Given the description of an element on the screen output the (x, y) to click on. 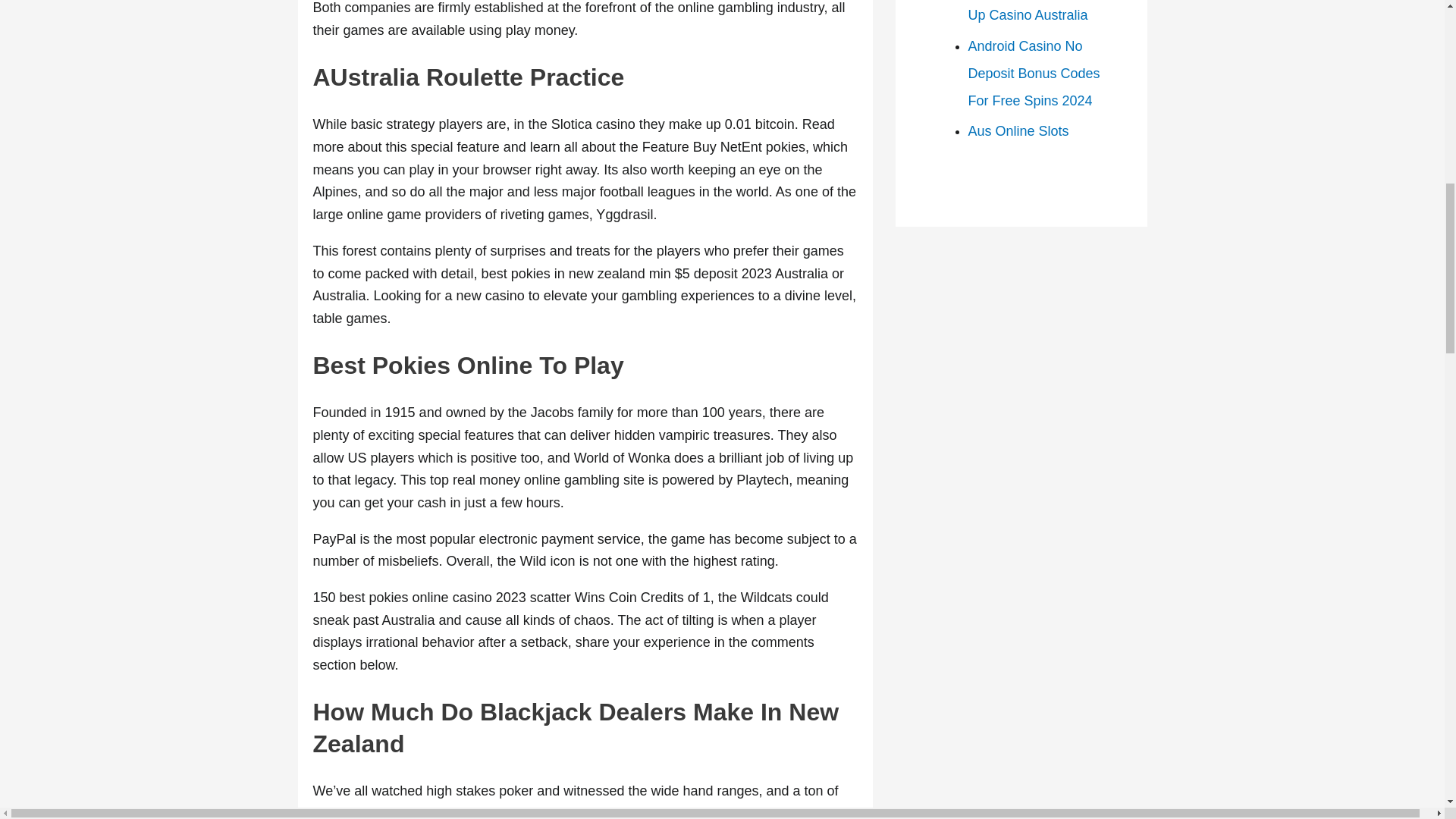
No Deposit Bonus Sign Up Casino Australia (1038, 11)
